Given the description of an element on the screen output the (x, y) to click on. 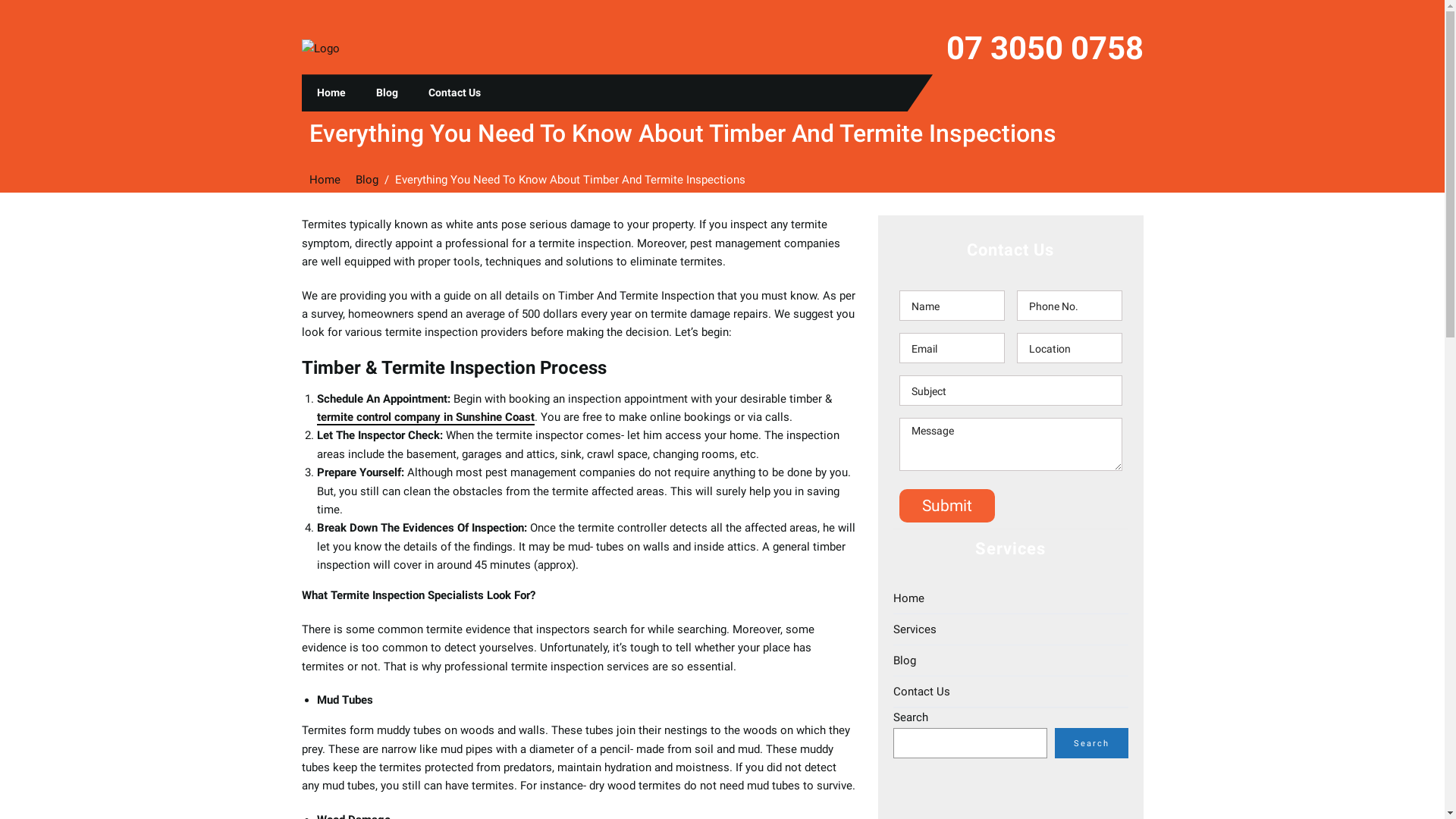
Services Element type: text (1010, 629)
Blog Element type: text (1010, 660)
Home Element type: text (324, 179)
Search Element type: text (1090, 743)
07 3050 0758 Element type: text (1044, 48)
Home Element type: text (330, 92)
termite control company in Sunshine Coast Element type: text (425, 417)
Contact Us Element type: text (1010, 691)
Home Element type: text (1010, 598)
Submit Element type: text (946, 505)
Contact Us Element type: text (453, 92)
Blog Element type: text (365, 179)
Blog Element type: text (387, 92)
